Given the description of an element on the screen output the (x, y) to click on. 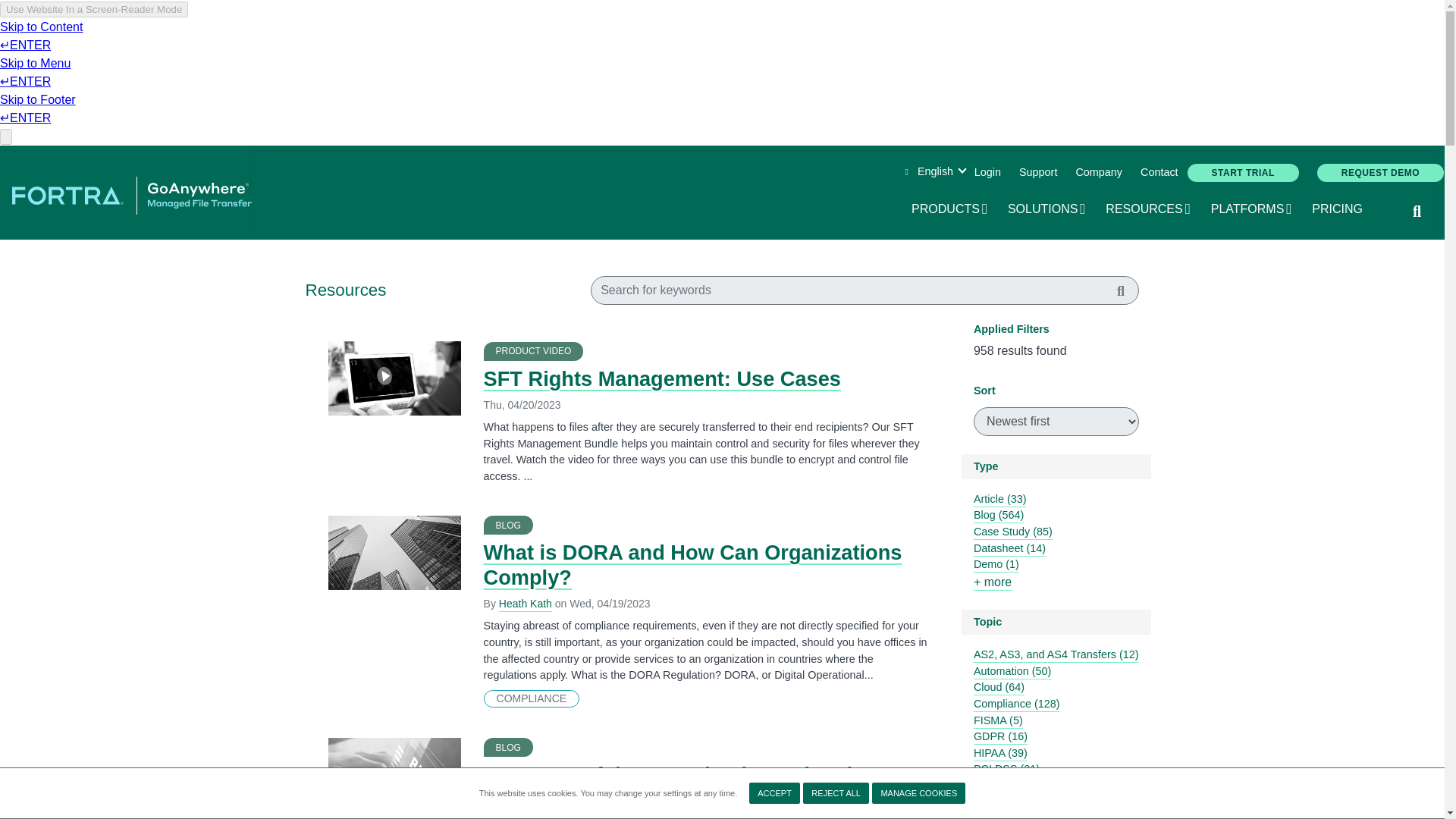
Support (950, 208)
About GoAnywhere (1037, 172)
Login (1098, 172)
MANAGE COOKIES (1047, 208)
REJECT ALL (987, 172)
Contact (918, 793)
Support (836, 793)
Home (1159, 172)
